Given the description of an element on the screen output the (x, y) to click on. 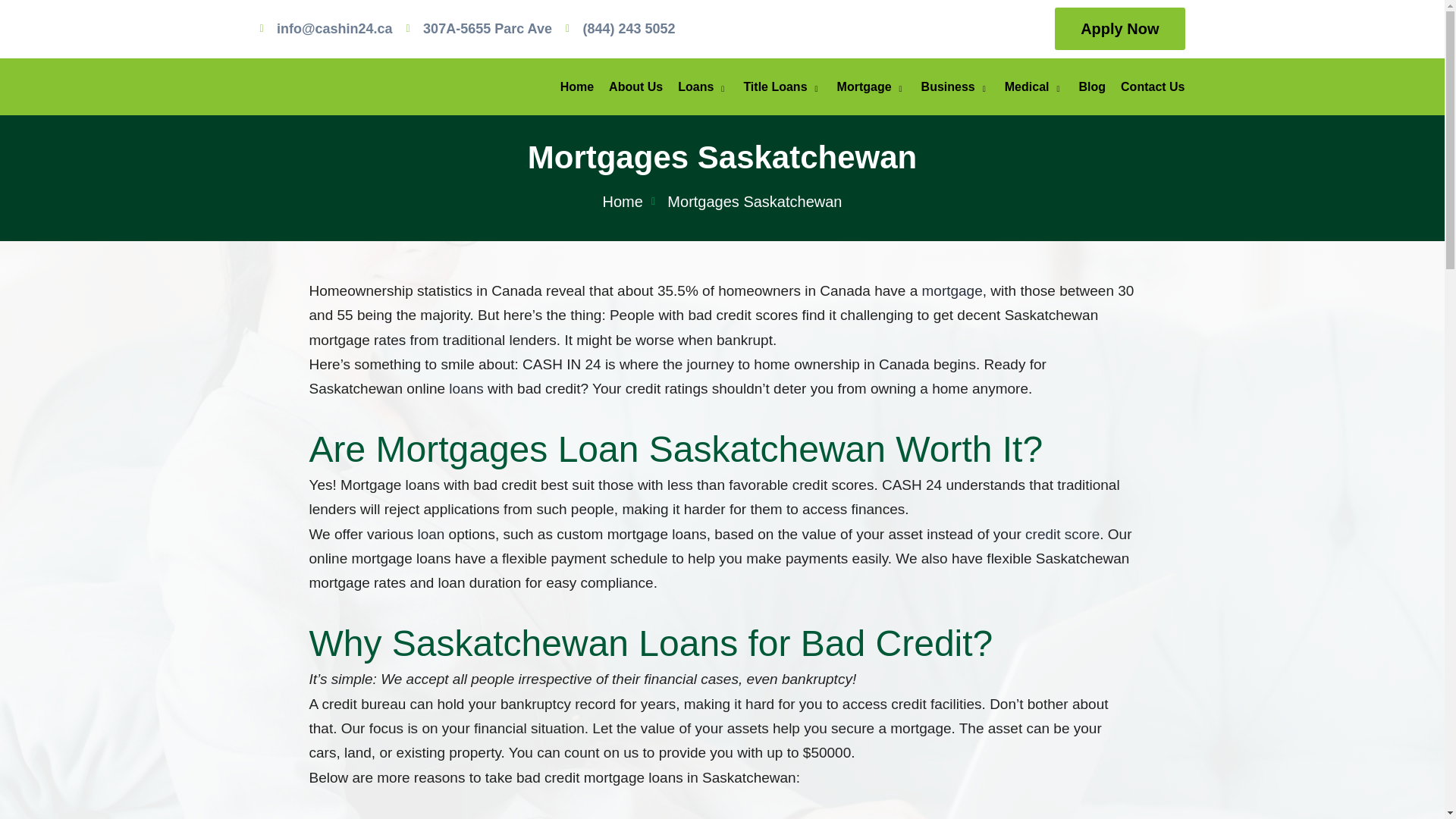
About Us (635, 86)
Apply Now (1119, 28)
Loans (702, 86)
